Given the description of an element on the screen output the (x, y) to click on. 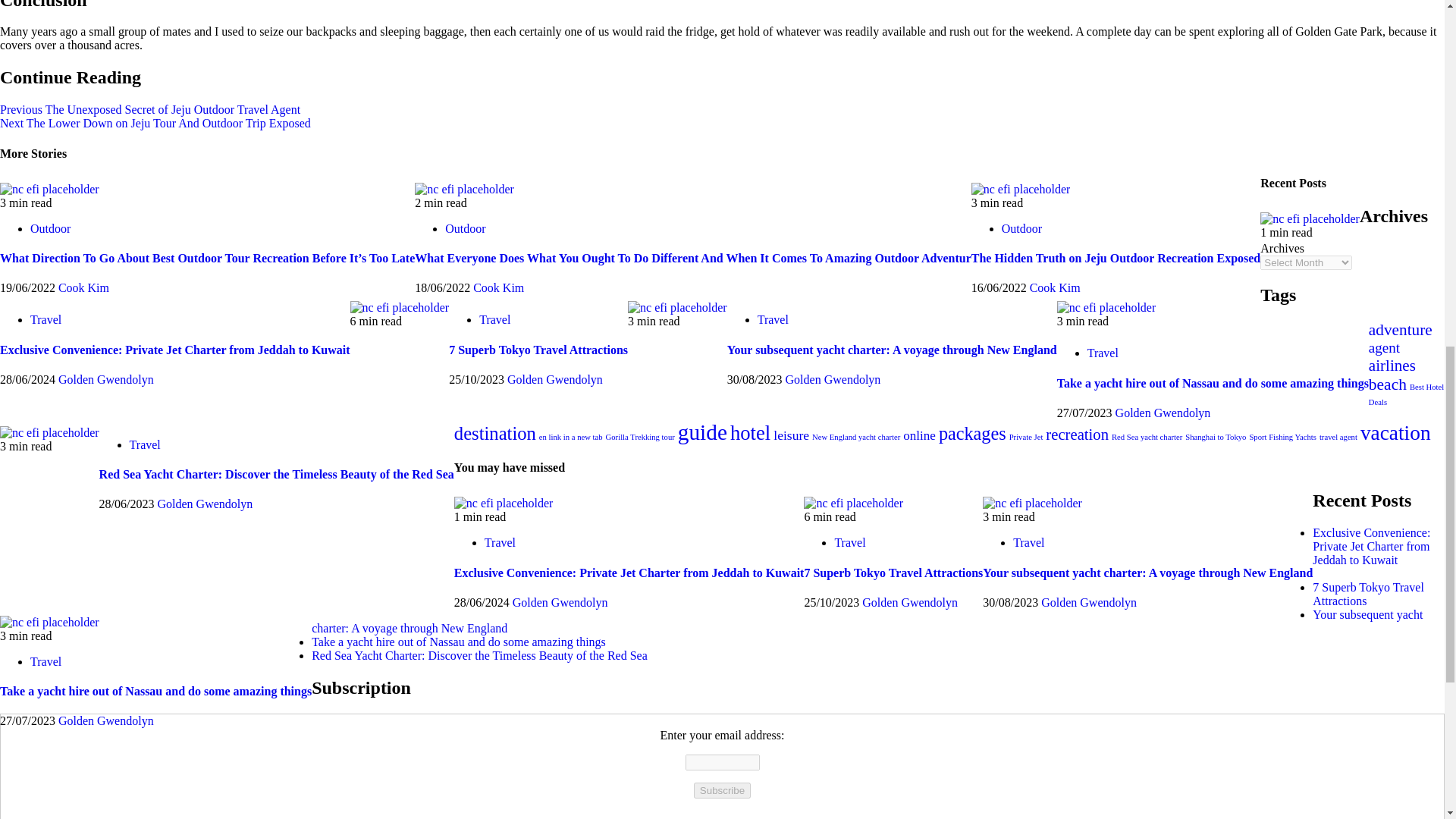
Cook Kim (83, 287)
Previous The Unexposed Secret of Jeju Outdoor Travel Agent (149, 109)
Take a yacht hire out of Nassau and do some amazing things (1106, 307)
The Hidden Truth on Jeju Outdoor Recreation Exposed (1020, 189)
Your subsequent yacht charter: A voyage through New England (1031, 503)
7 Superb Tokyo Travel Attractions (399, 307)
Your subsequent yacht charter: A voyage through New England (676, 307)
Cook Kim (498, 287)
